Given the description of an element on the screen output the (x, y) to click on. 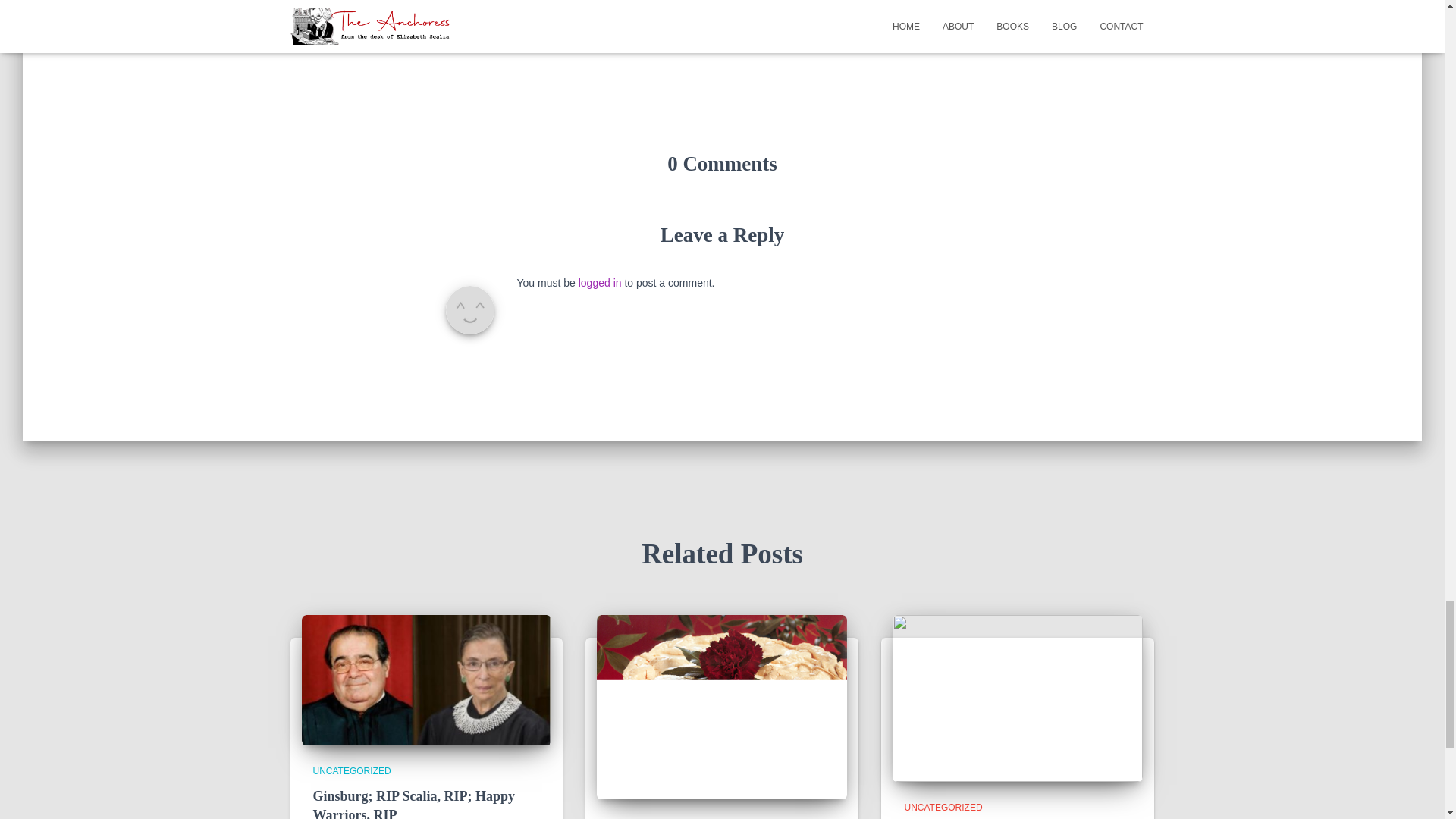
View all posts in Uncategorized (351, 770)
UNCATEGORIZED (542, 9)
Ginsburg; RIP Scalia, RIP; Happy Warriors, RIP (426, 679)
UNCATEGORIZED (351, 770)
View all posts in Uncategorized (942, 807)
logged in (599, 282)
Ginsburg; RIP Scalia, RIP; Happy Warriors, RIP (414, 803)
A Light, Delicious Meringue Cake for Christmas! (721, 705)
Books (484, 35)
Christmas (530, 35)
UNCATEGORIZED (942, 807)
Ginsburg; RIP Scalia, RIP; Happy Warriors, RIP (414, 803)
Gifts (573, 35)
